Given the description of an element on the screen output the (x, y) to click on. 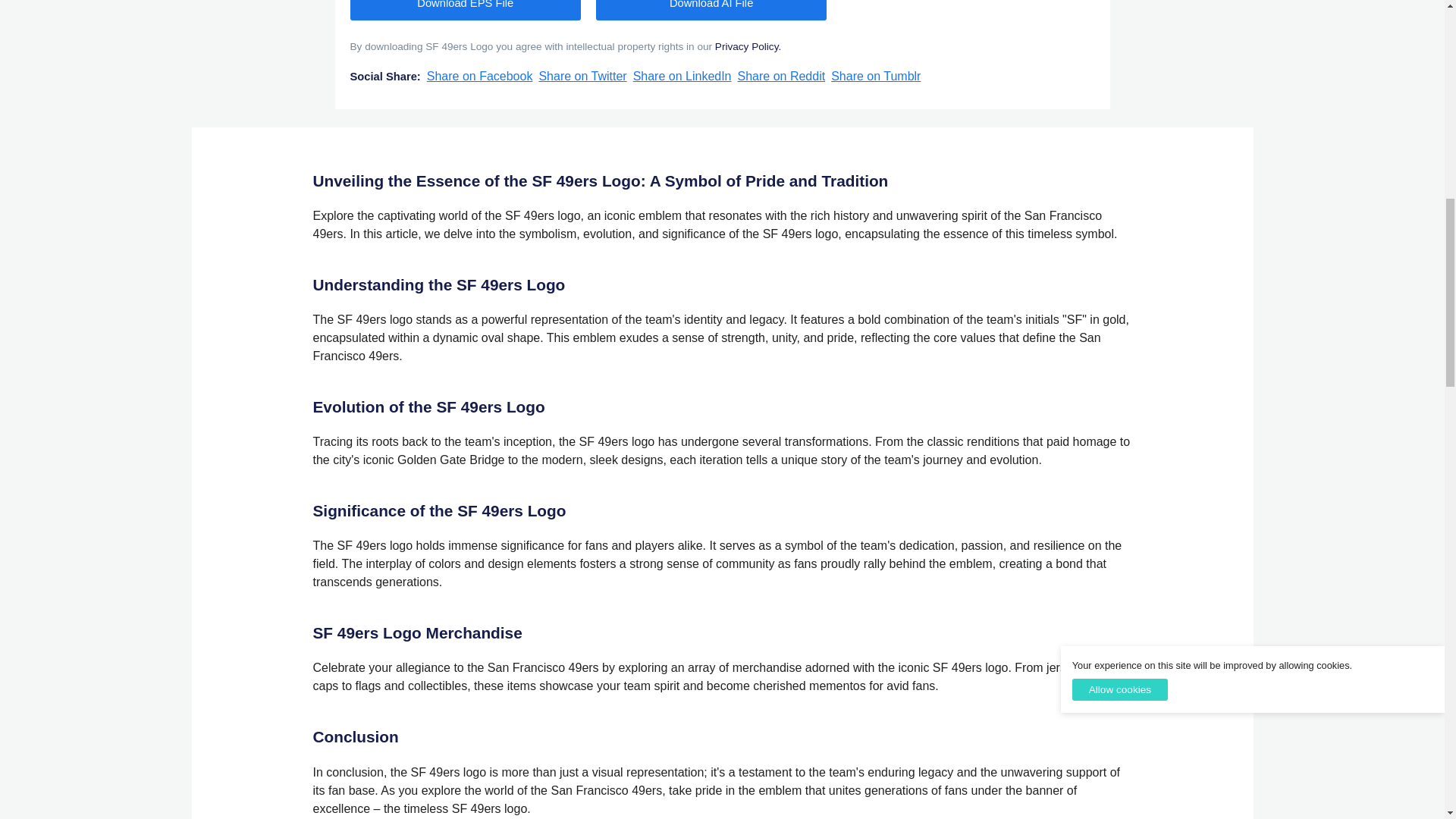
Download SF 49ers Logo in EPS File format (465, 10)
Download SF 49ers Logo in AI File format (711, 10)
